Given the description of an element on the screen output the (x, y) to click on. 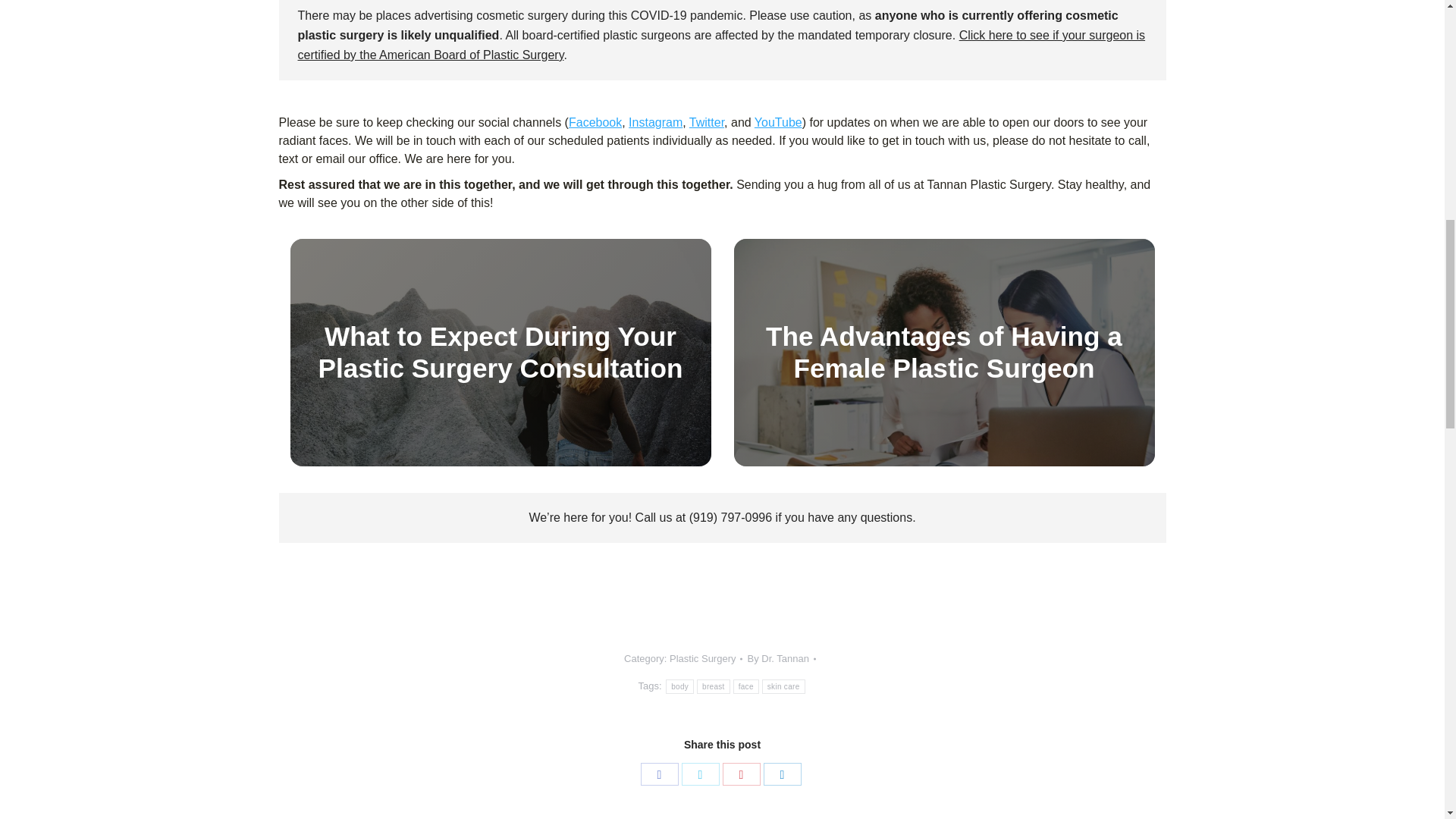
View all posts by Dr. Tannan (780, 659)
